Given the description of an element on the screen output the (x, y) to click on. 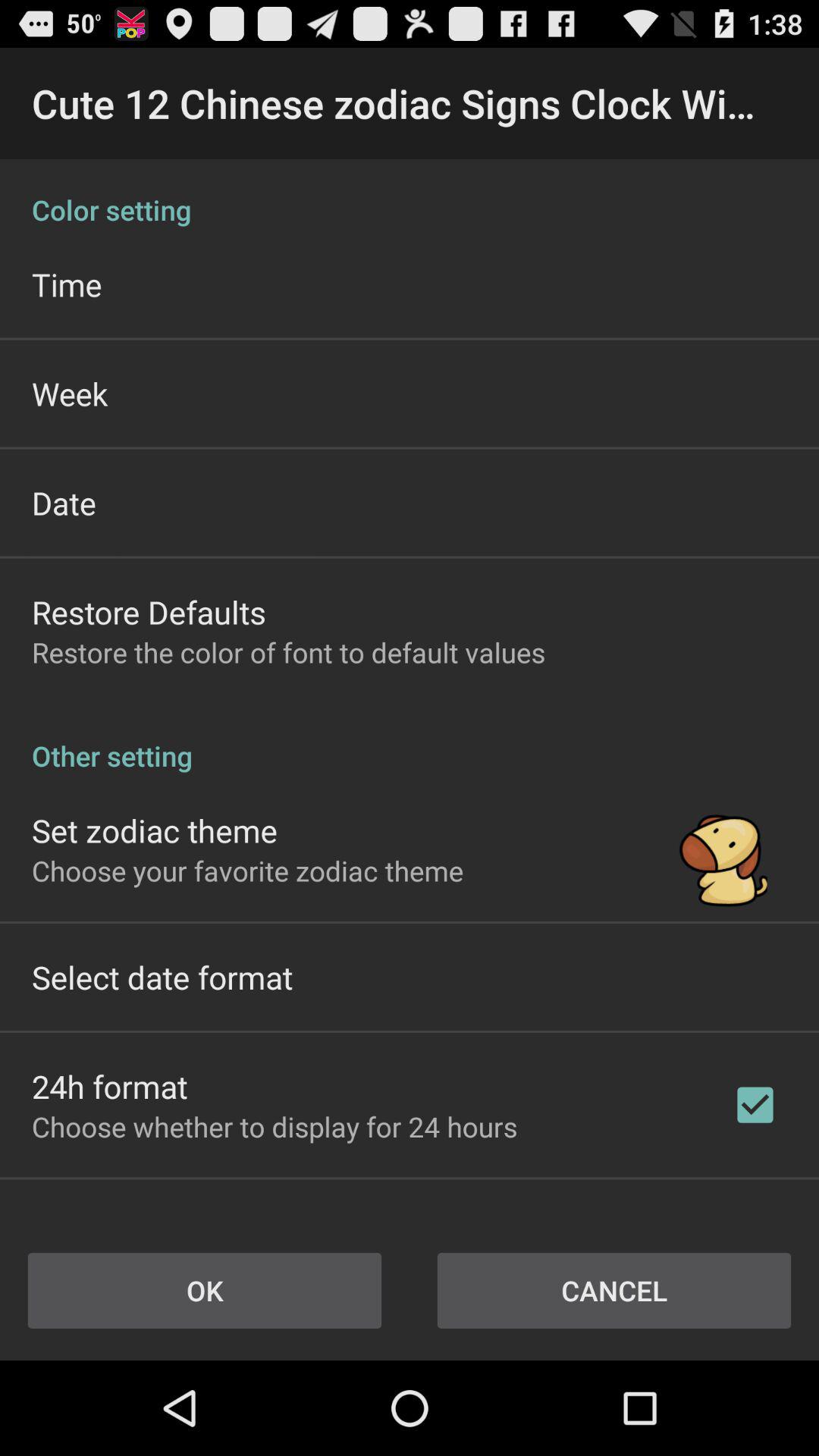
flip to the select date format app (161, 976)
